Given the description of an element on the screen output the (x, y) to click on. 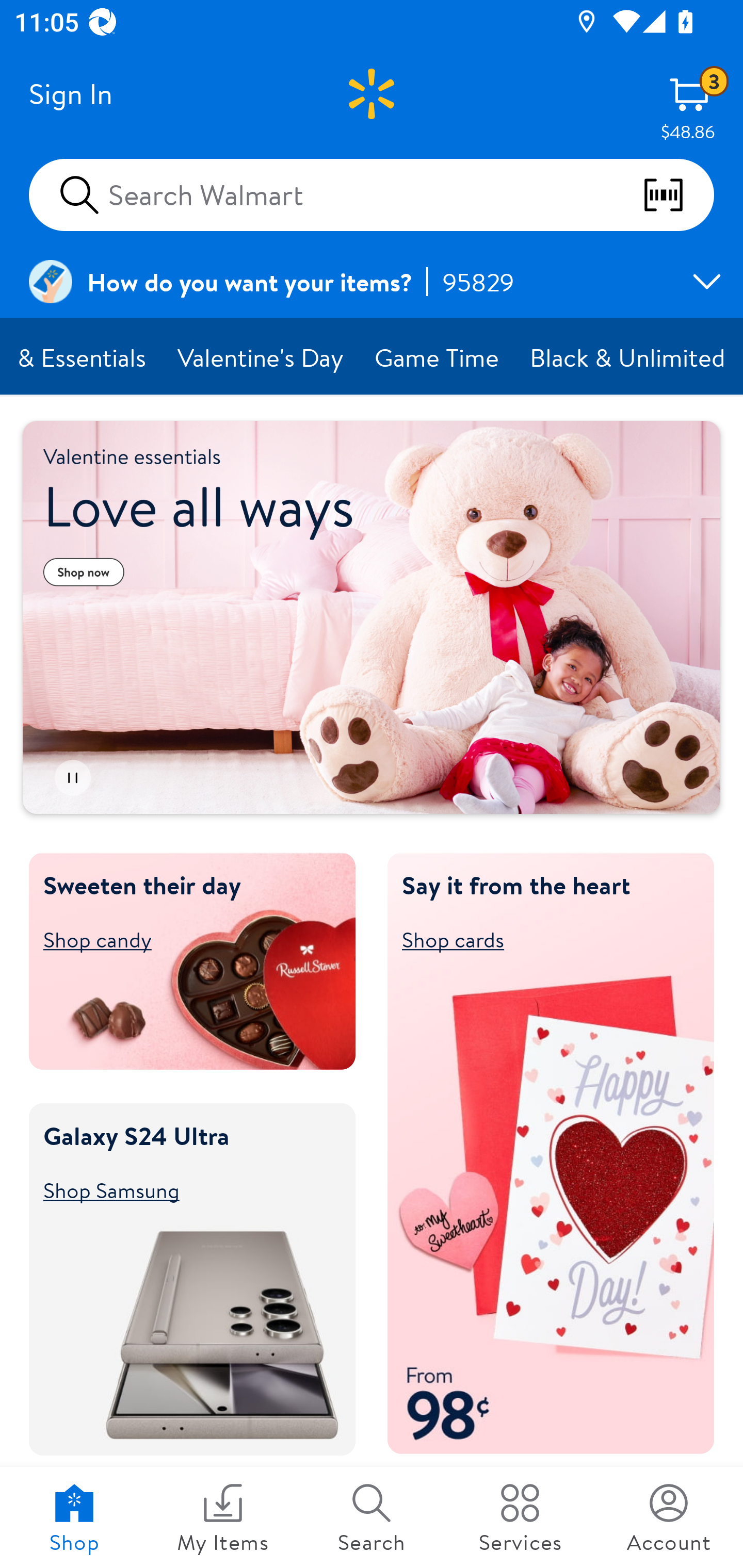
Sign In (70, 93)
Search Walmart scan barcodes qr codes and more (371, 194)
scan barcodes qr codes and more (677, 195)
Grocery & Essentials (81, 357)
Valentine's Day (261, 357)
Game Time (437, 357)
Black & Unlimited (628, 357)
Pause (72, 777)
Shop candy Shop candy Sweeten their day (183, 939)
Shop cards Shop cards Say it from the heart (541, 939)
Shop Samsung Shop Samsung Galaxy S24 Ultra (183, 1190)
My Items (222, 1517)
Search (371, 1517)
Services (519, 1517)
Account (668, 1517)
